Given the description of an element on the screen output the (x, y) to click on. 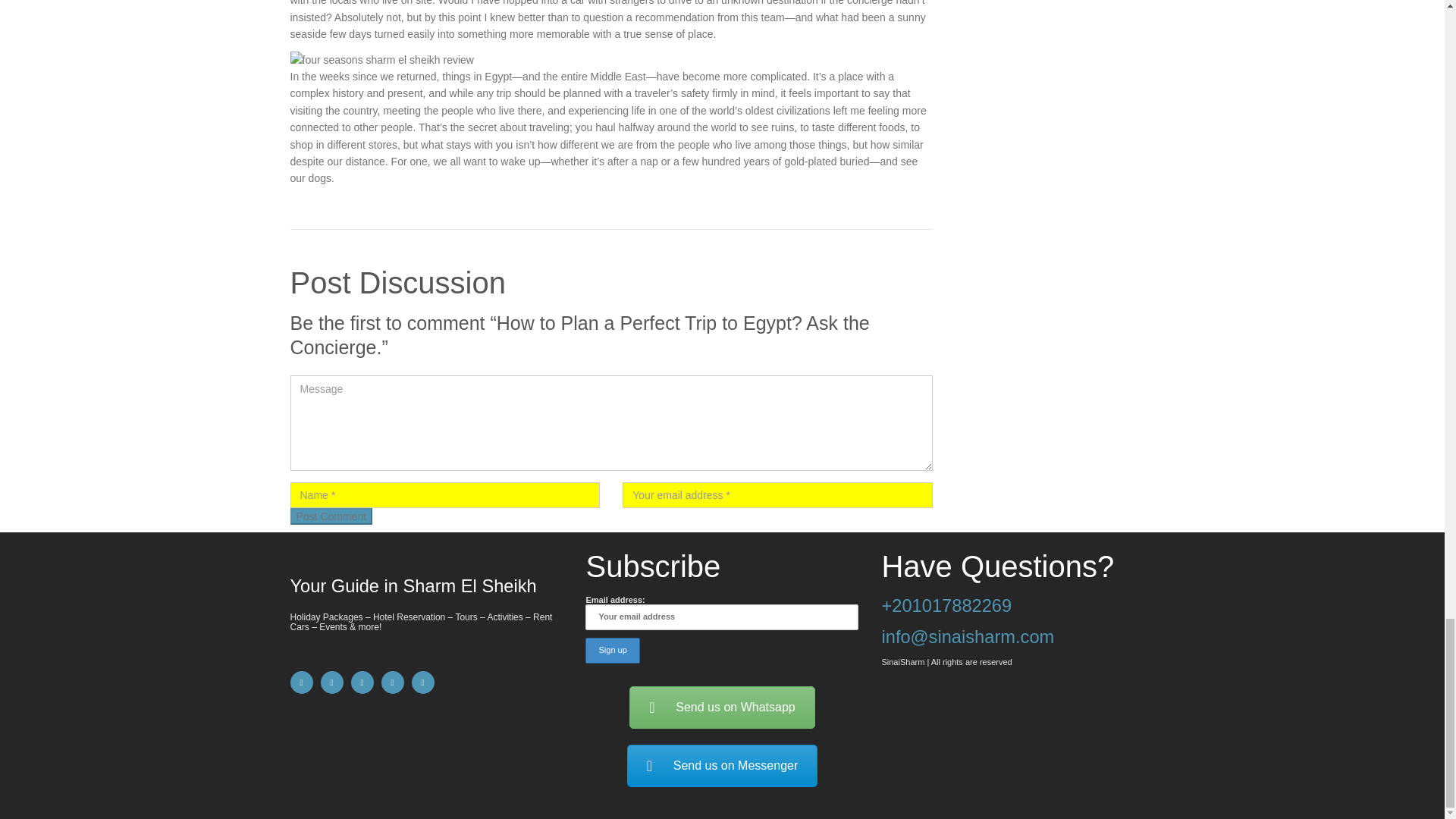
Post Comment (330, 515)
Send us on Whatsapp (720, 707)
Sign up (612, 650)
Send us on Messenger (722, 765)
Sign up (612, 650)
Post Comment (330, 515)
